Given the description of an element on the screen output the (x, y) to click on. 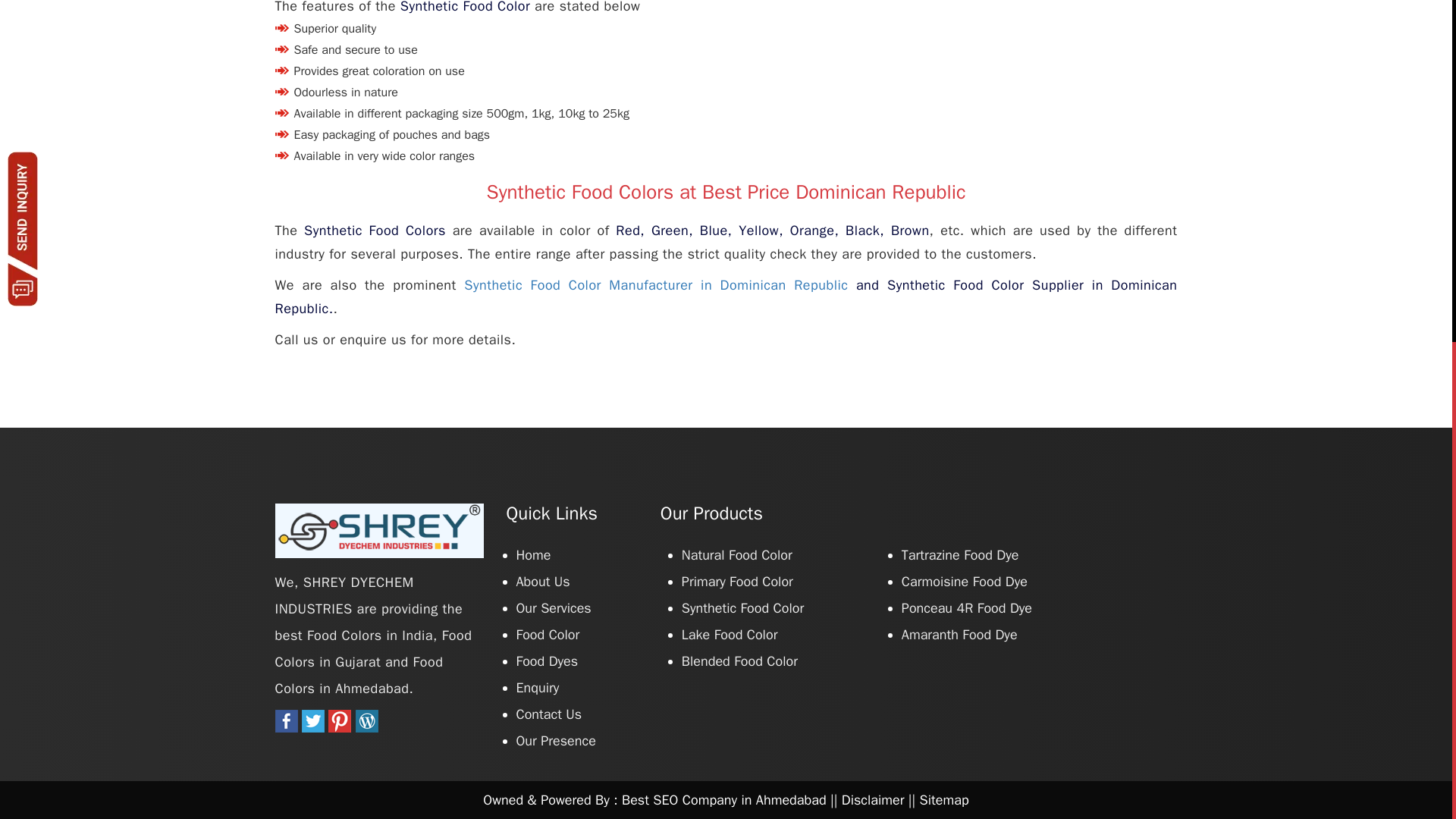
Contact Us (547, 713)
Synthetic Food Color Manufacturer in Dominican Republic (655, 284)
Primary Food Color (737, 581)
Food Color (547, 634)
Facebook (286, 727)
About Us (542, 581)
twitter (312, 727)
wordpress (366, 727)
pintrest (339, 727)
Home (532, 555)
Our Services (553, 607)
Synthetic Food Color Manufacturer in Dominican Republic (655, 284)
Synthetic Food Color (742, 607)
Our Presence (555, 740)
Natural Food Color (736, 555)
